Given the description of an element on the screen output the (x, y) to click on. 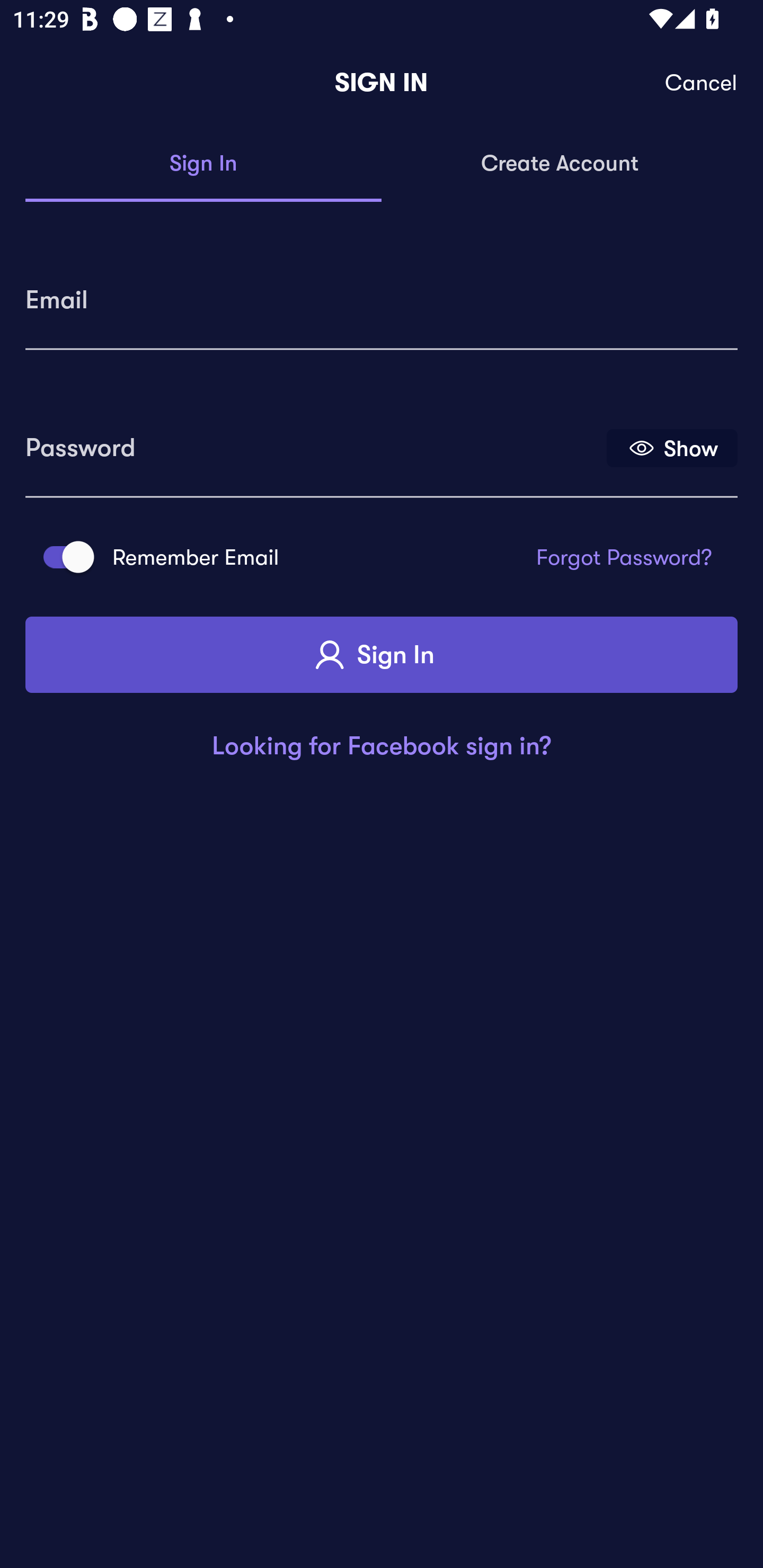
Cancel (701, 82)
Sign In (203, 164)
Create Account (559, 164)
Email (381, 293)
Password (314, 441)
Show Password Show (671, 447)
Remember Email (62, 557)
Sign In (381, 654)
